Given the description of an element on the screen output the (x, y) to click on. 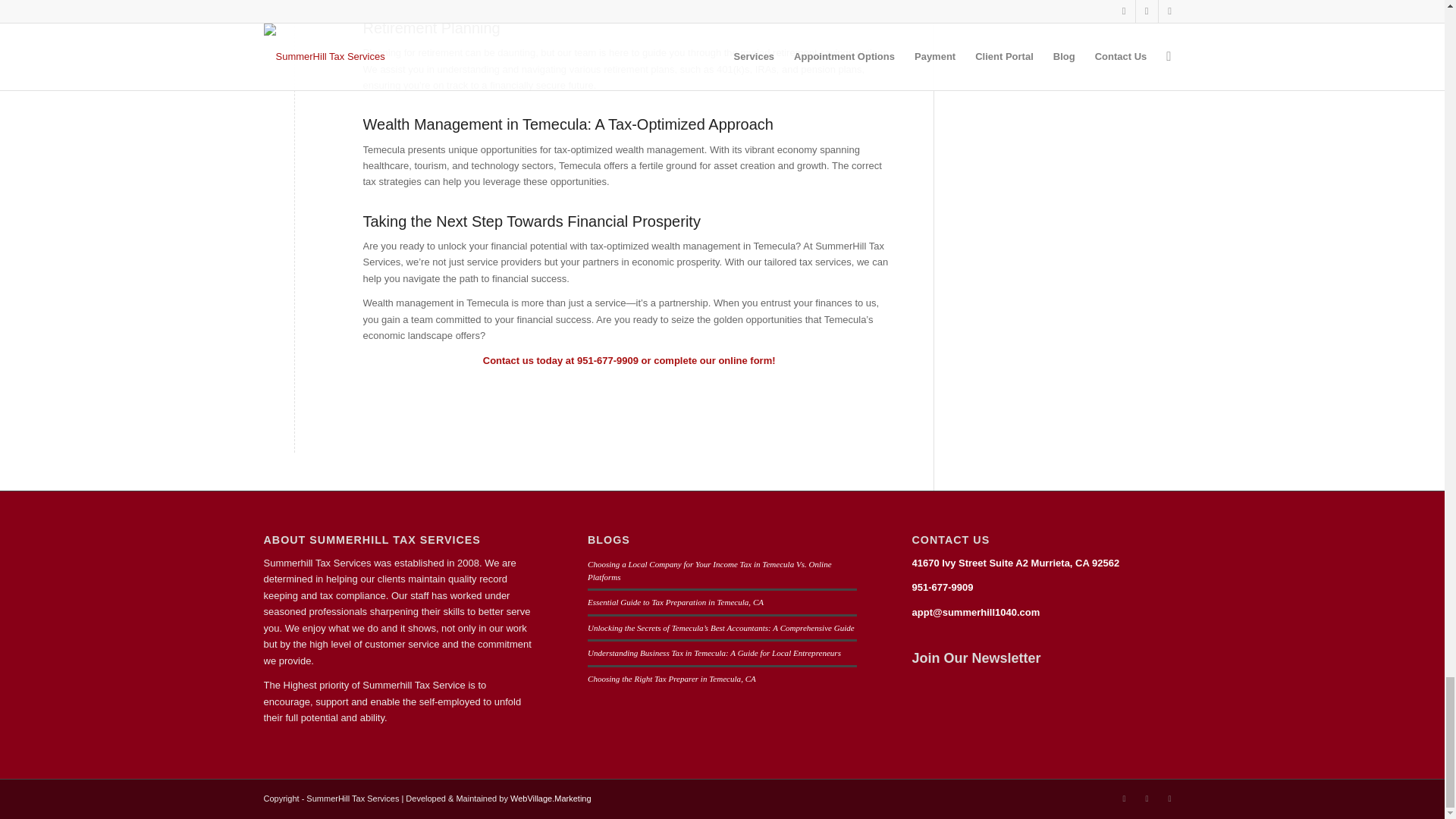
Facebook (1146, 798)
Instagram (1124, 798)
